Given the description of an element on the screen output the (x, y) to click on. 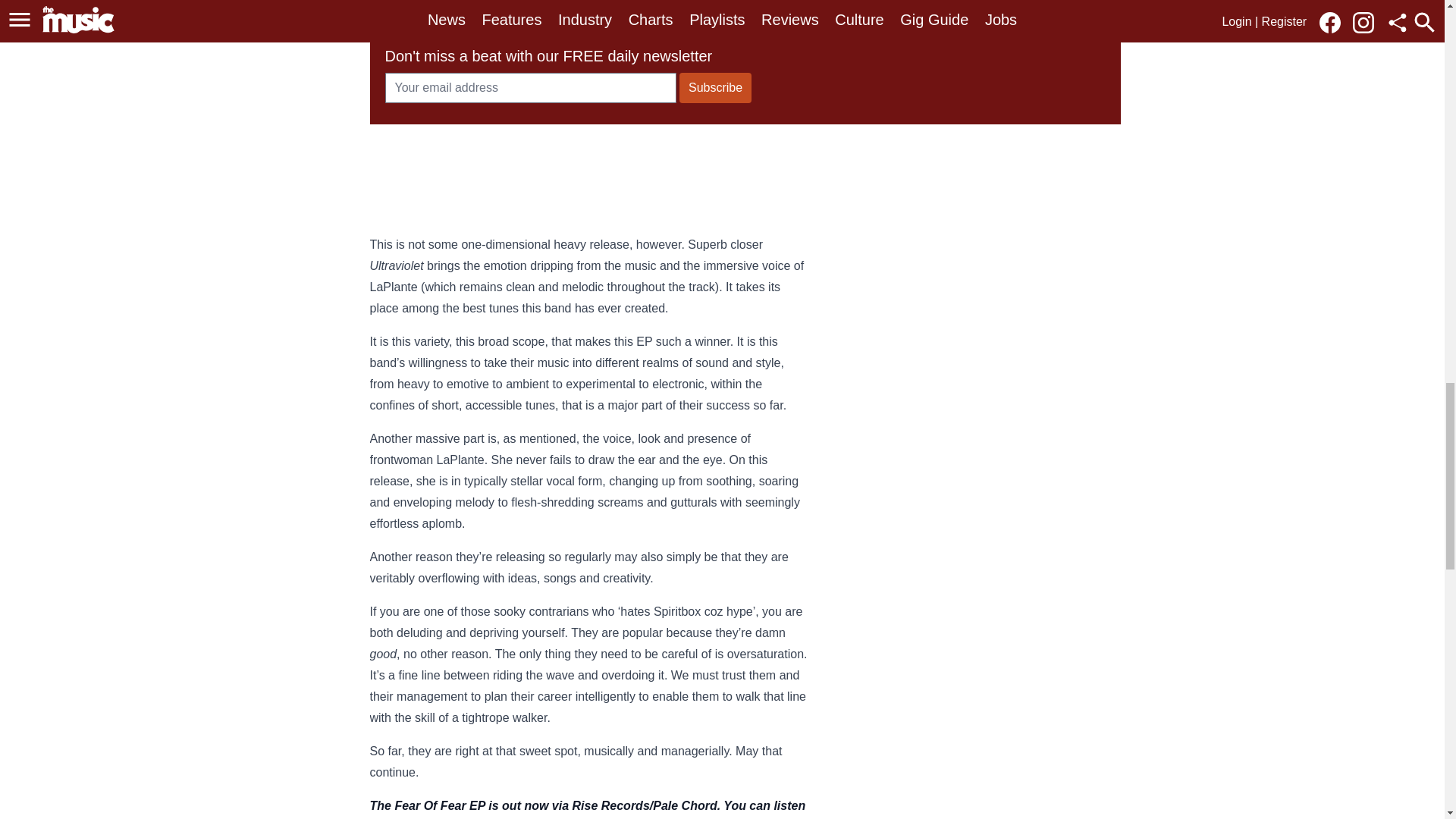
Subscribe (715, 87)
